Given the description of an element on the screen output the (x, y) to click on. 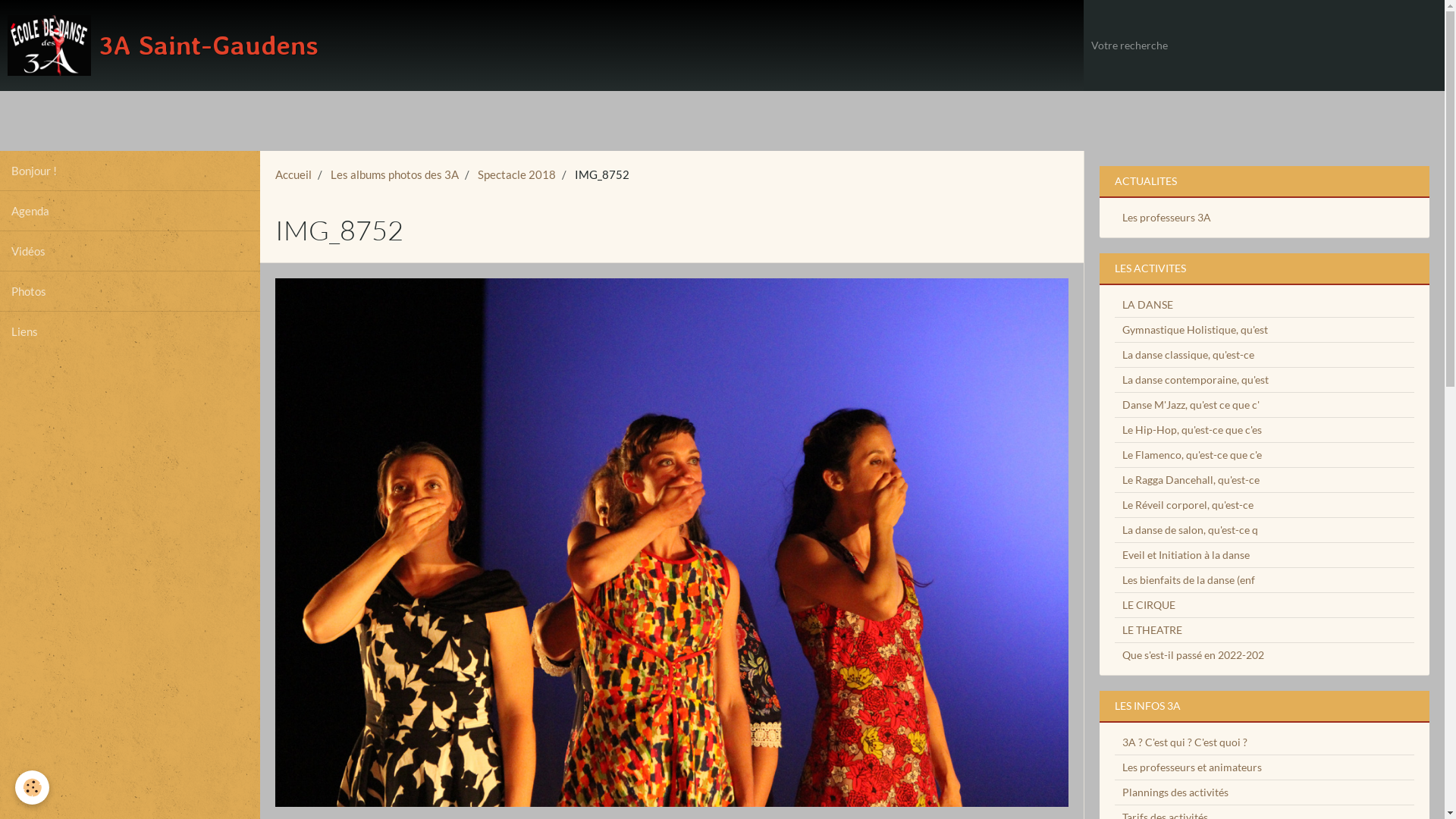
Agenda Element type: text (130, 210)
Le Ragga Dancehall, qu'est-ce Element type: text (1264, 479)
Les albums photos des 3A Element type: text (394, 173)
La danse classique, qu'est-ce Element type: text (1264, 354)
Les professeurs et animateurs Element type: text (1264, 767)
Bonjour ! Element type: text (130, 169)
LES INFOS 3A Element type: text (1264, 705)
Le Hip-Hop, qu'est-ce que c'es Element type: text (1264, 429)
Liens Element type: text (130, 330)
3A Saint-Gaudens Element type: text (162, 45)
La danse de salon, qu'est-ce q Element type: text (1264, 529)
Les bienfaits de la danse (enf Element type: text (1264, 579)
Le Flamenco, qu'est-ce que c'e Element type: text (1264, 454)
3A ? C'est qui ? C'est quoi ? Element type: text (1264, 741)
ACTUALITES Element type: text (1264, 180)
Photos Element type: text (130, 290)
Les professeurs 3A Element type: text (1264, 216)
Accueil Element type: text (293, 173)
LE CIRQUE Element type: text (1264, 605)
LA DANSE Element type: text (1264, 304)
Spectacle 2018 Element type: text (516, 173)
Gymnastique Holistique, qu'est Element type: text (1264, 328)
La danse contemporaine, qu'est Element type: text (1264, 379)
LES ACTIVITES Element type: text (1264, 268)
Danse M'Jazz, qu'est ce que c' Element type: text (1264, 404)
LE THEATRE Element type: text (1264, 629)
